Given the description of an element on the screen output the (x, y) to click on. 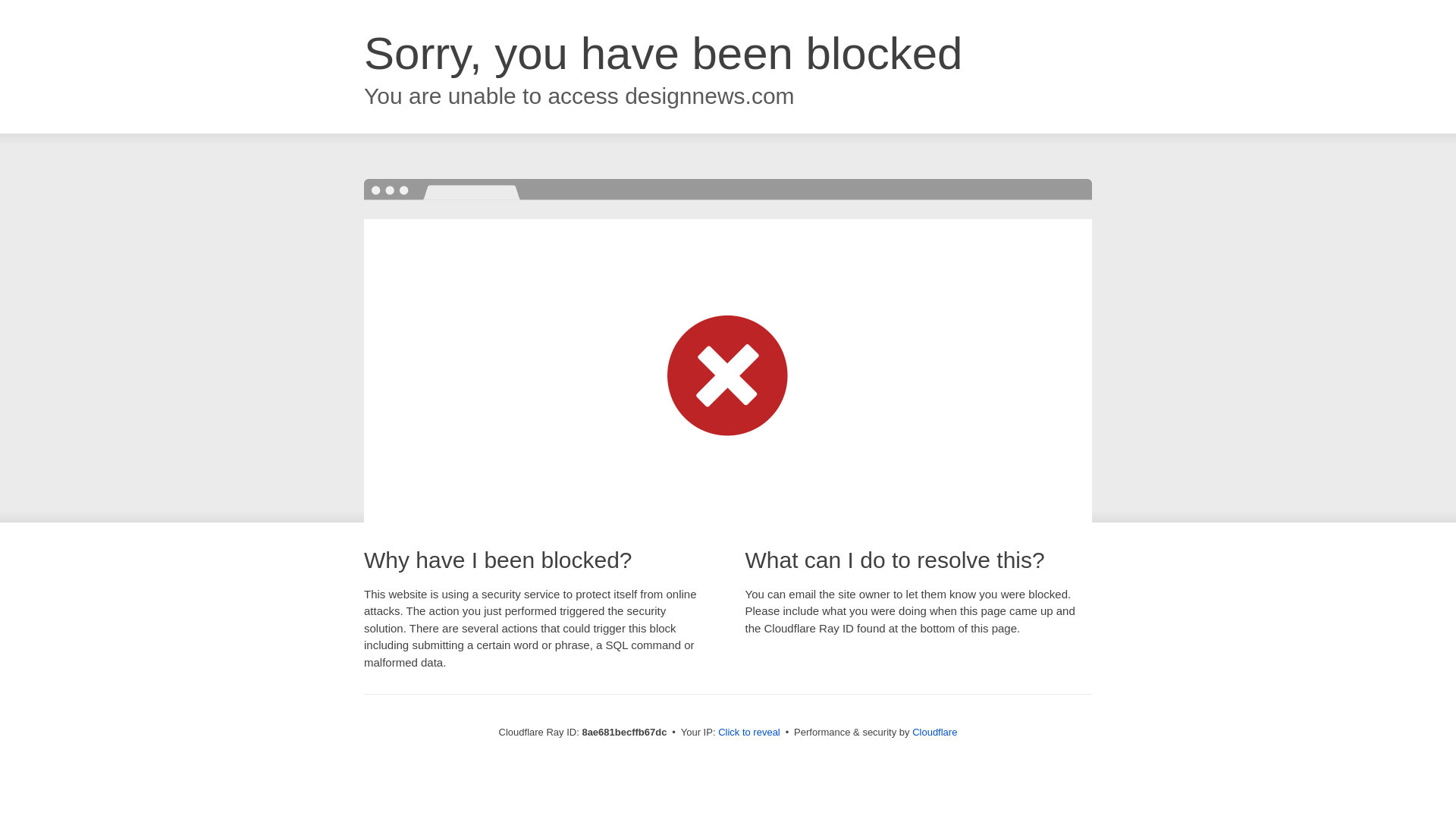
Click to reveal (748, 732)
Cloudflare (934, 731)
